Given the description of an element on the screen output the (x, y) to click on. 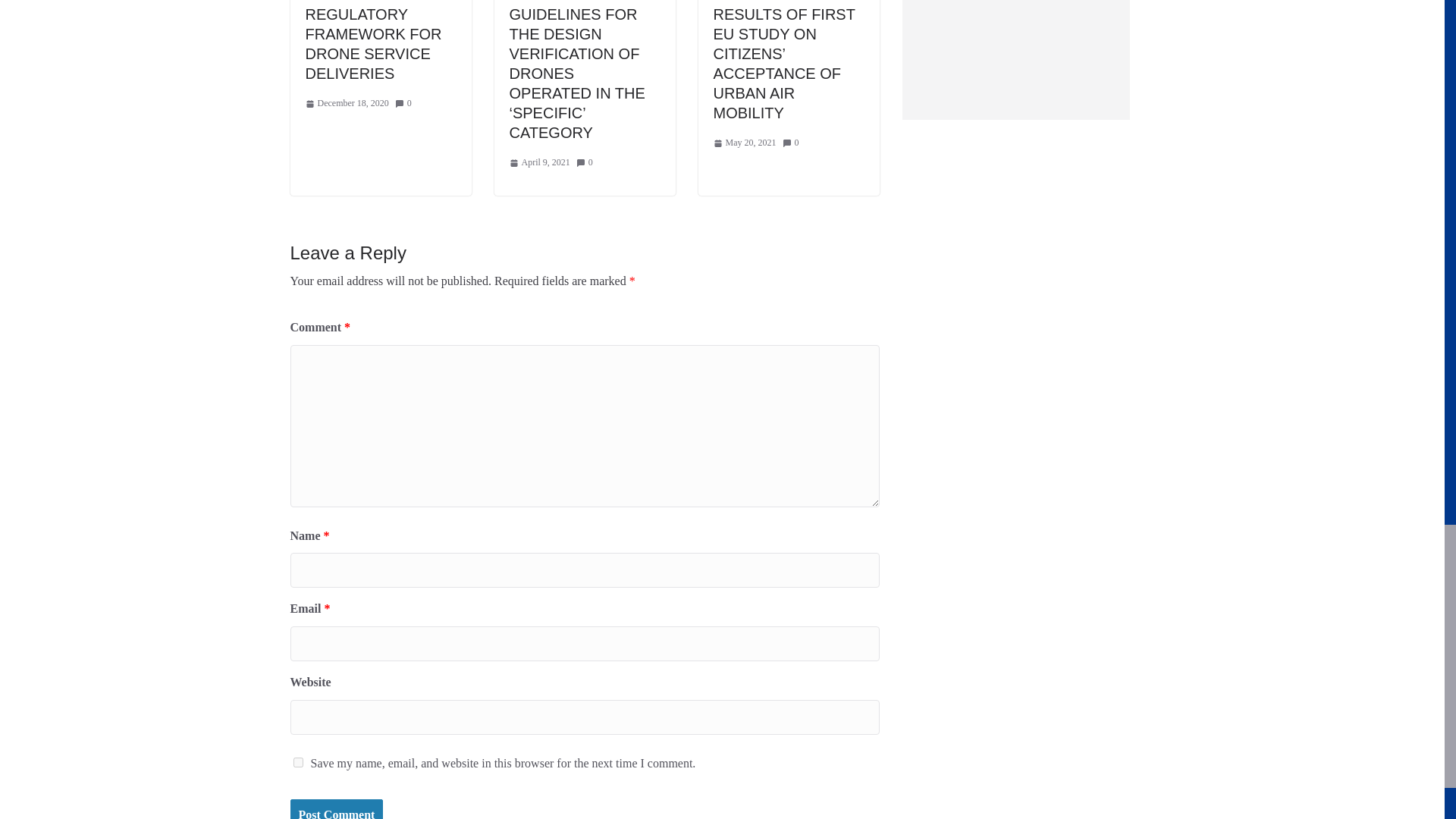
10:03 (346, 103)
yes (297, 762)
09:18 (539, 162)
December 18, 2020 (346, 103)
April 9, 2021 (539, 162)
May 20, 2021 (744, 143)
Post Comment (335, 809)
